Given the description of an element on the screen output the (x, y) to click on. 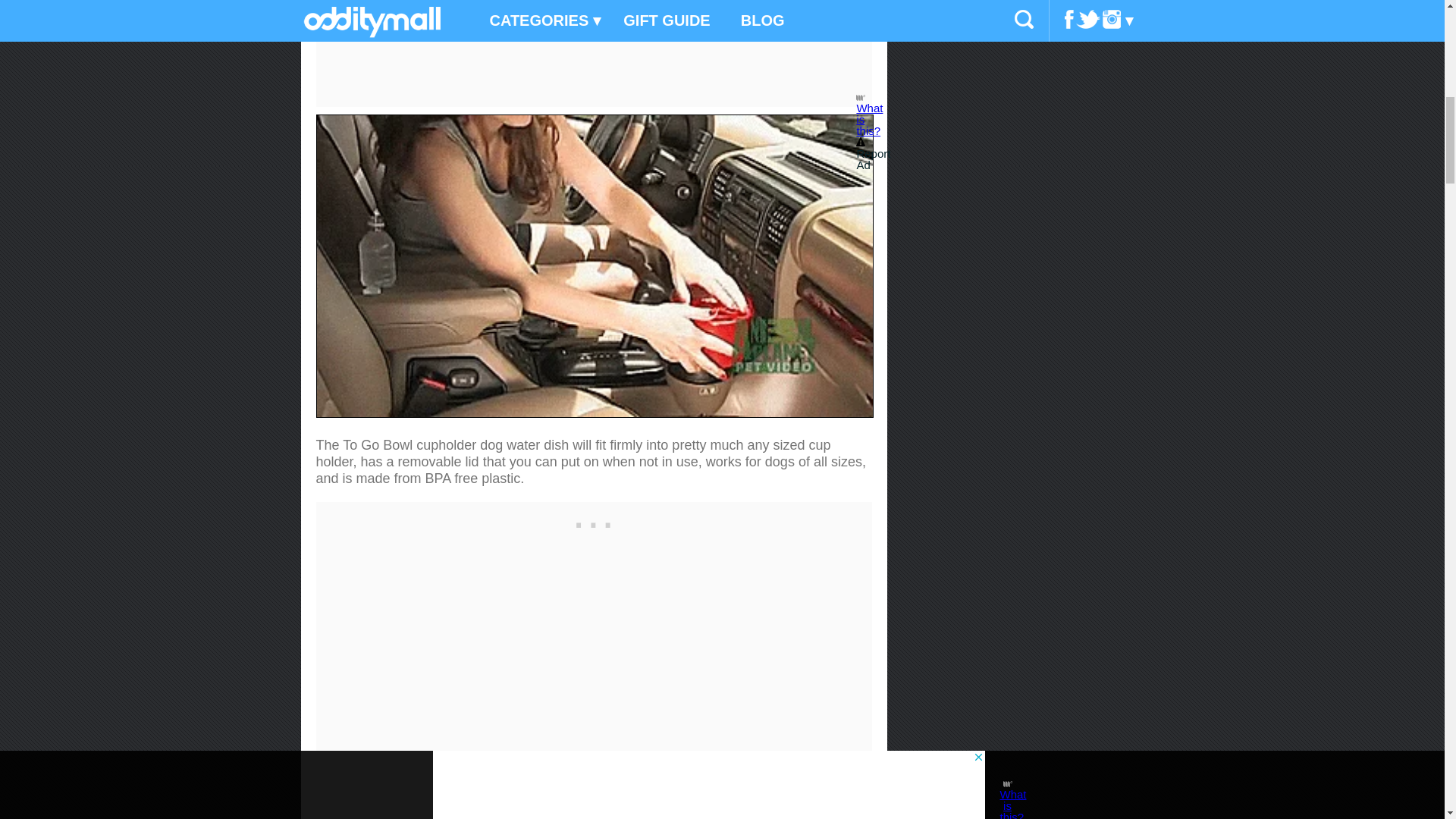
3rd party ad content (592, 520)
